Given the description of an element on the screen output the (x, y) to click on. 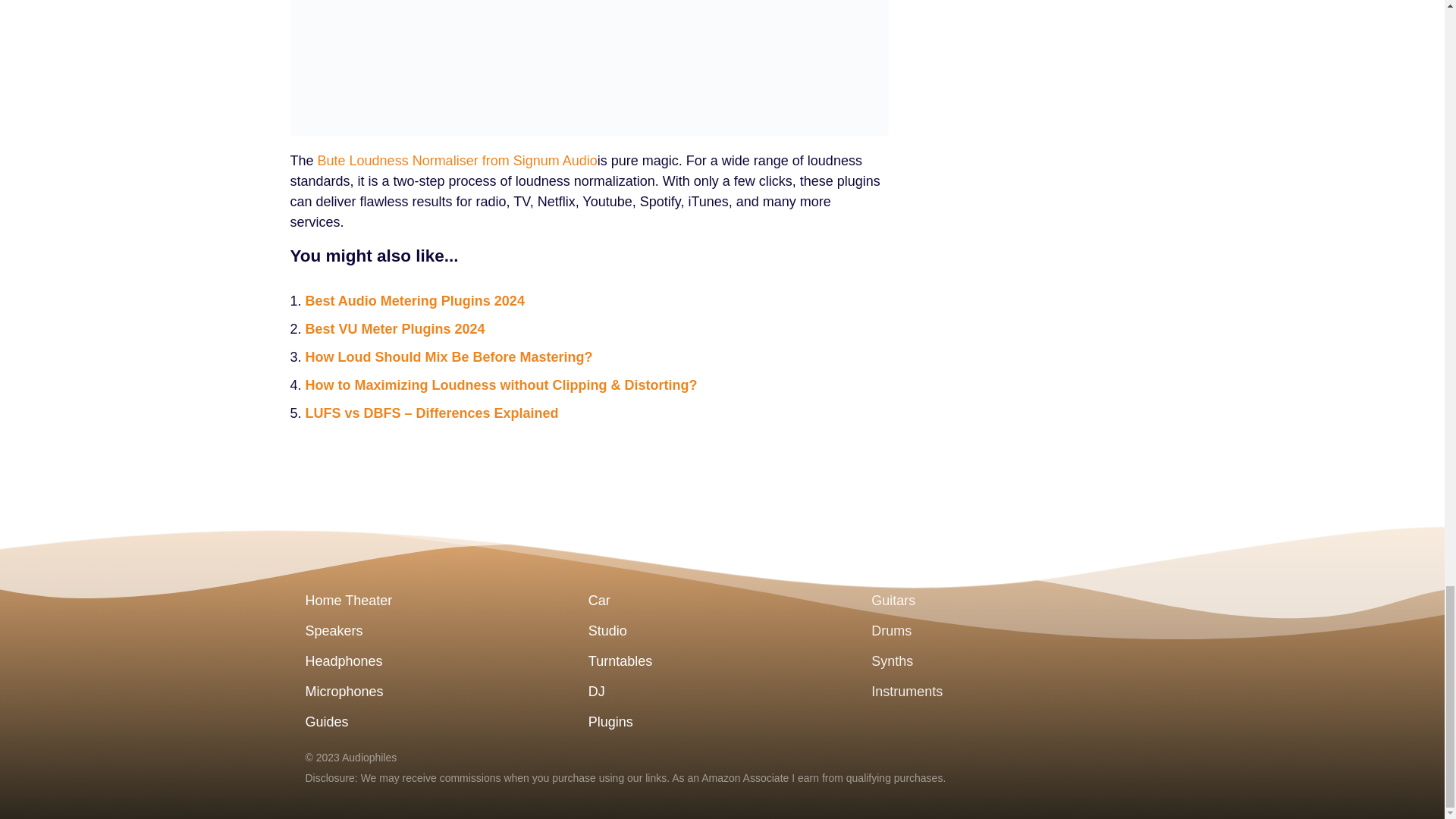
Bute Loudness Normaliser from Signum Audio (456, 160)
Best Audio Metering Plugins 2024 (414, 300)
Best VU Meter Plugins 2024 (394, 328)
How Loud Should Mix Be Before Mastering? (448, 356)
